Given the description of an element on the screen output the (x, y) to click on. 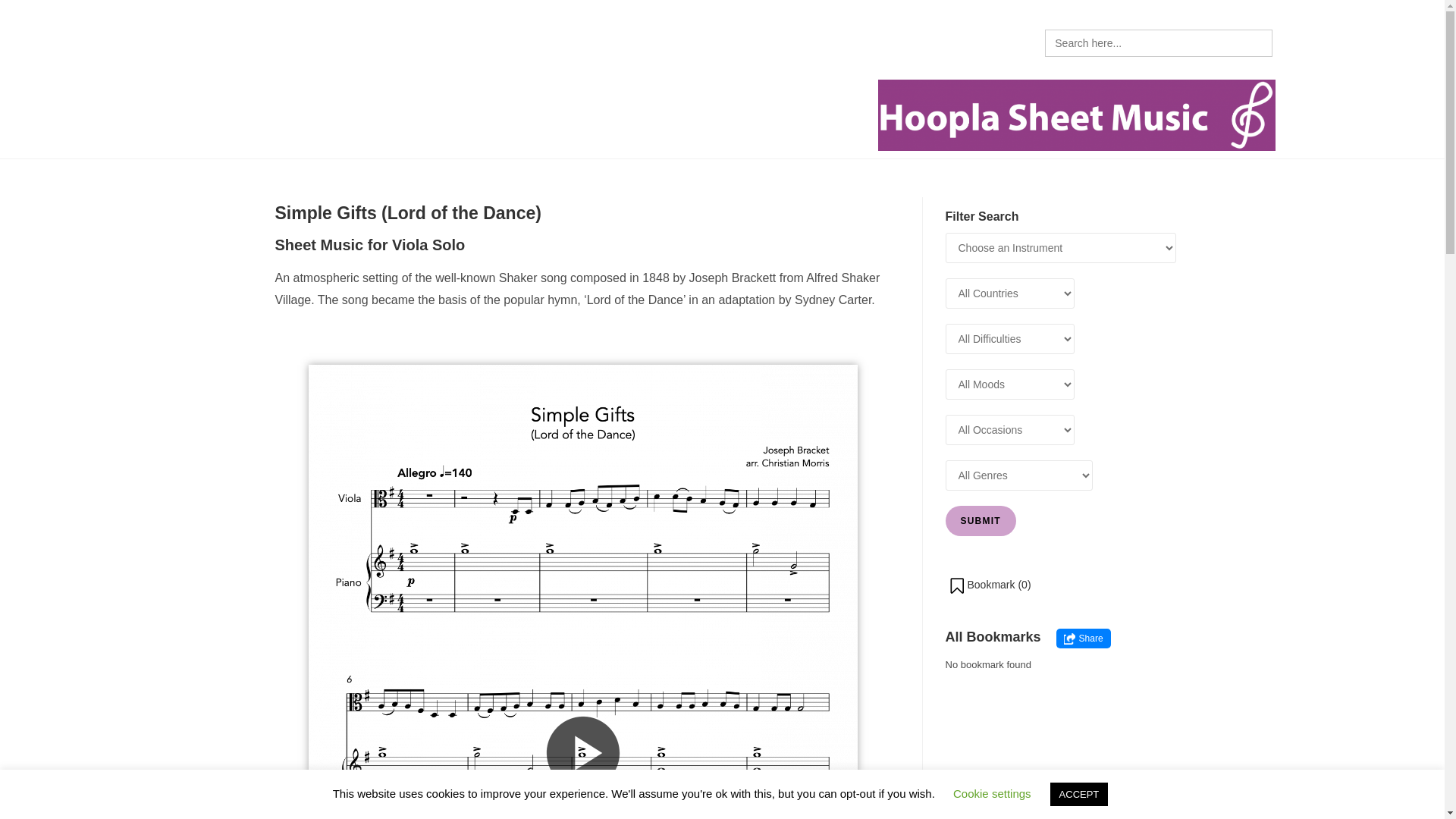
Bookmark This (988, 585)
Submit (979, 521)
Choose an instrument (255, 46)
